Given the description of an element on the screen output the (x, y) to click on. 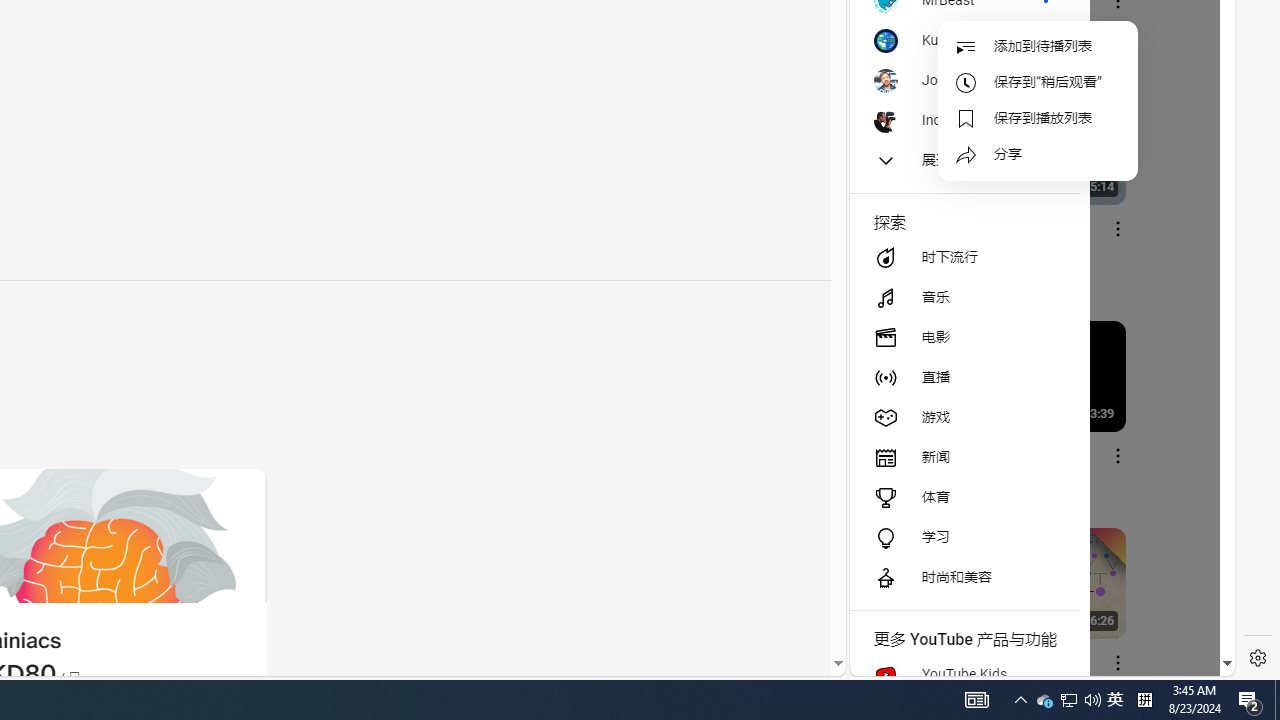
Class: dict_pnIcon rms_img (1028, 660)
Global web icon (888, 432)
